Given the description of an element on the screen output the (x, y) to click on. 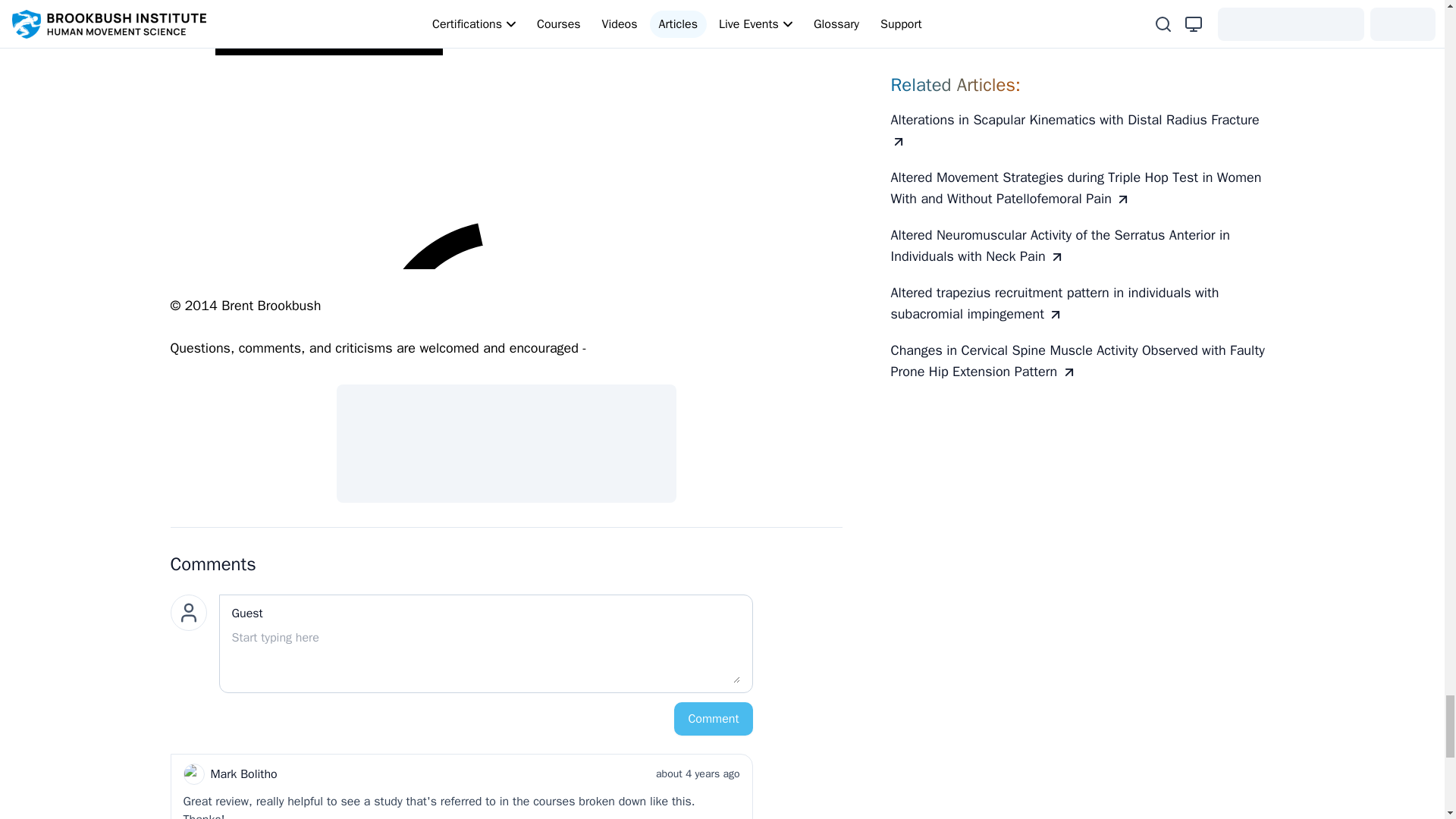
Comment (713, 718)
